Given the description of an element on the screen output the (x, y) to click on. 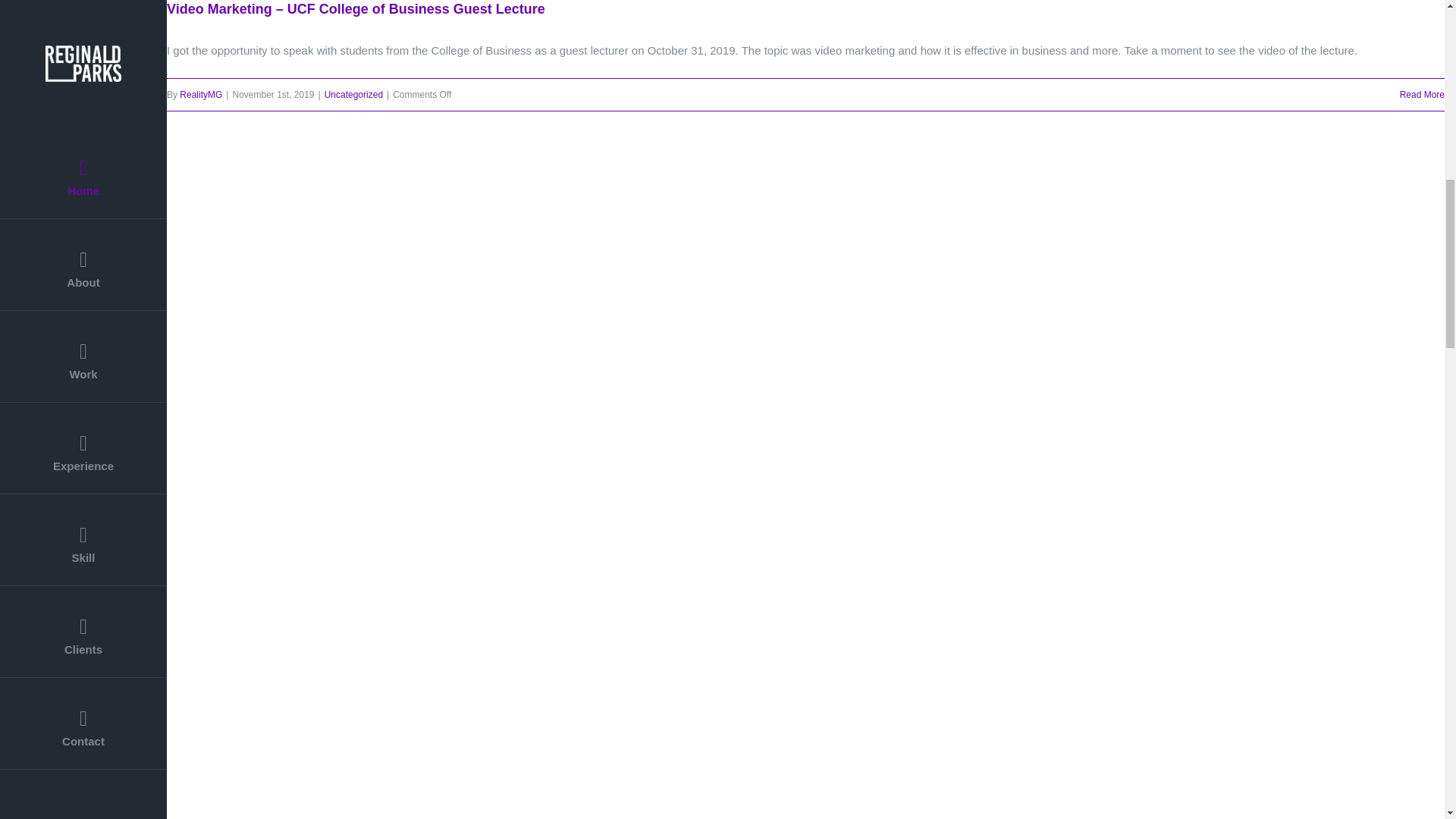
Uncategorized (353, 94)
RealityMG (200, 94)
Posts by RealityMG (200, 94)
